Given the description of an element on the screen output the (x, y) to click on. 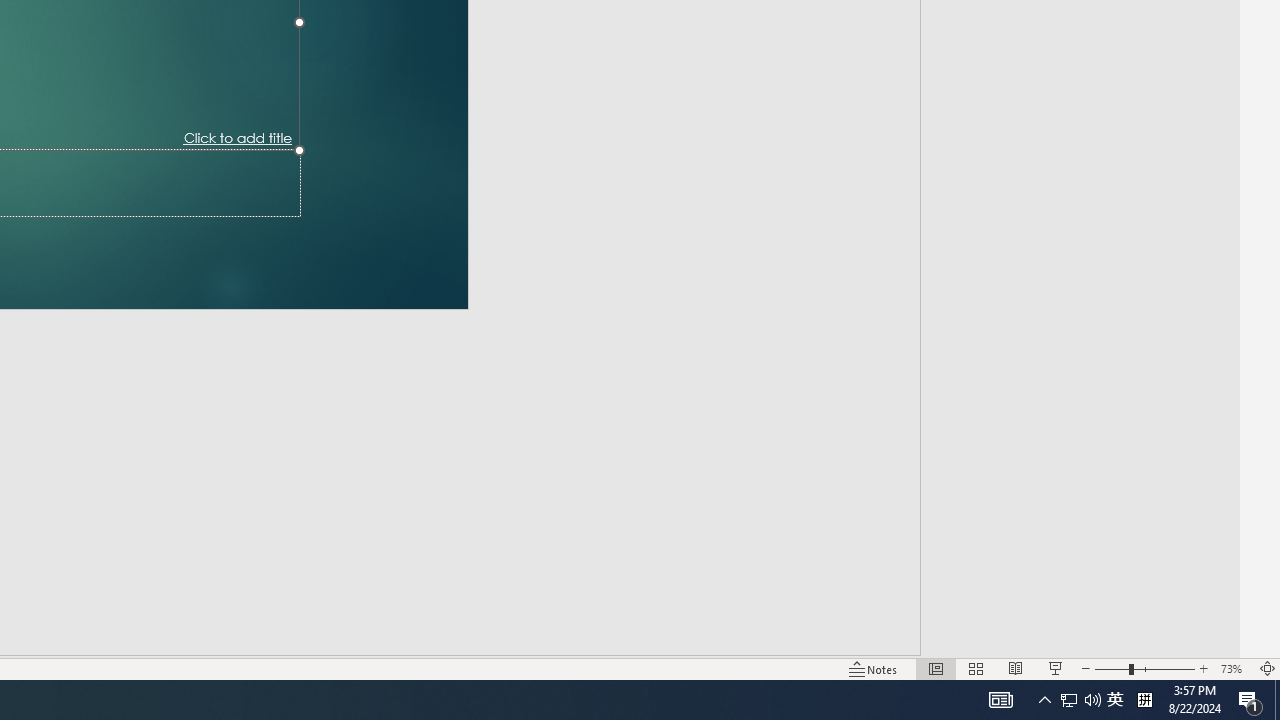
Zoom In (1204, 640)
Read Mode (864, 640)
Cancel (134, 57)
Zoom (1116, 640)
Print Layout (924, 640)
Poe (201, 687)
Web Layout (984, 640)
